Given the description of an element on the screen output the (x, y) to click on. 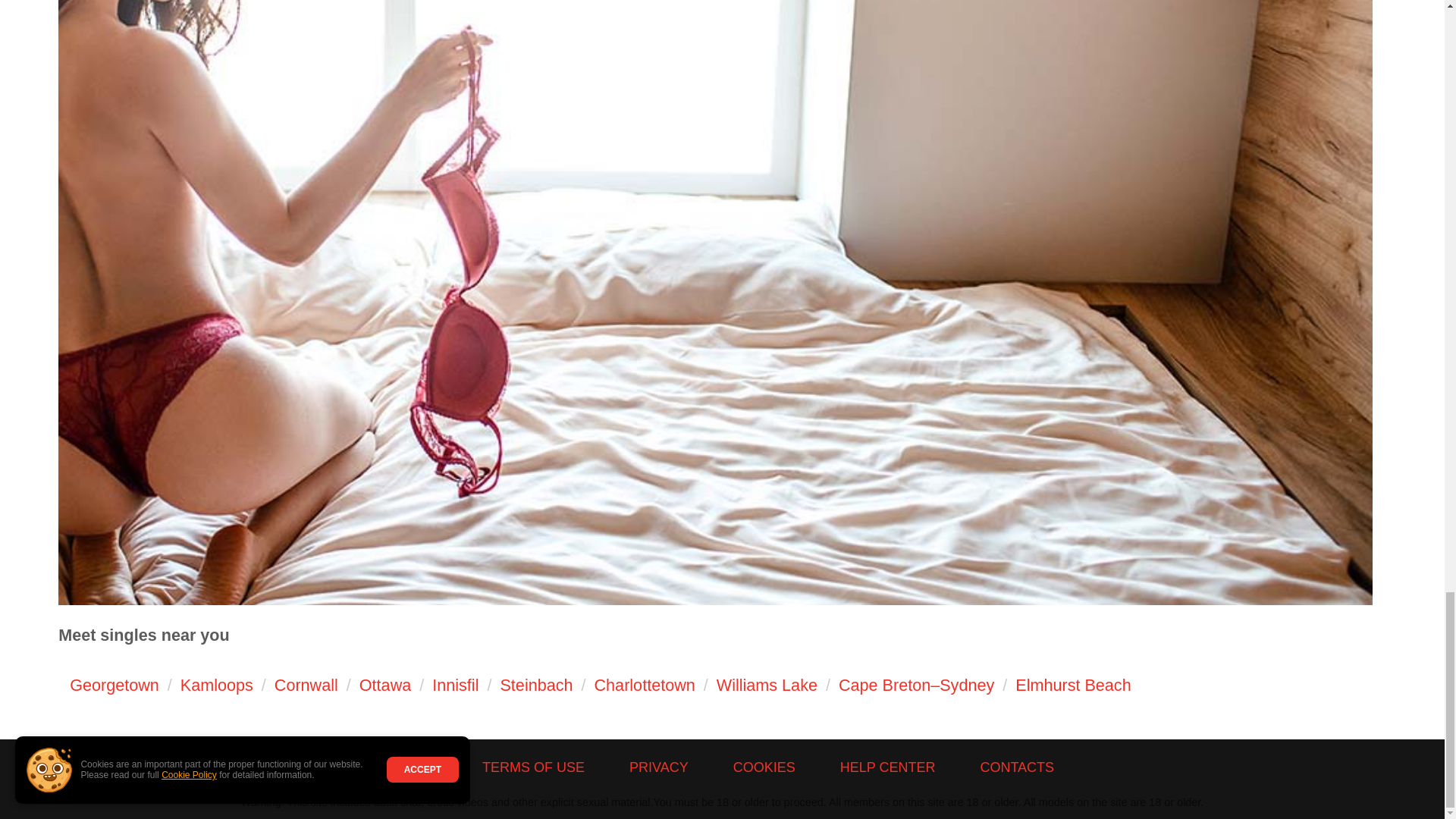
Charlottetown (644, 684)
Steinbach (535, 684)
Georgetown (113, 684)
Georgetown (113, 684)
Kamloops (216, 684)
Williams Lake (766, 684)
ABOUT (413, 767)
Williams Lake (766, 684)
Innisfil (455, 684)
Kamloops (216, 684)
